Given the description of an element on the screen output the (x, y) to click on. 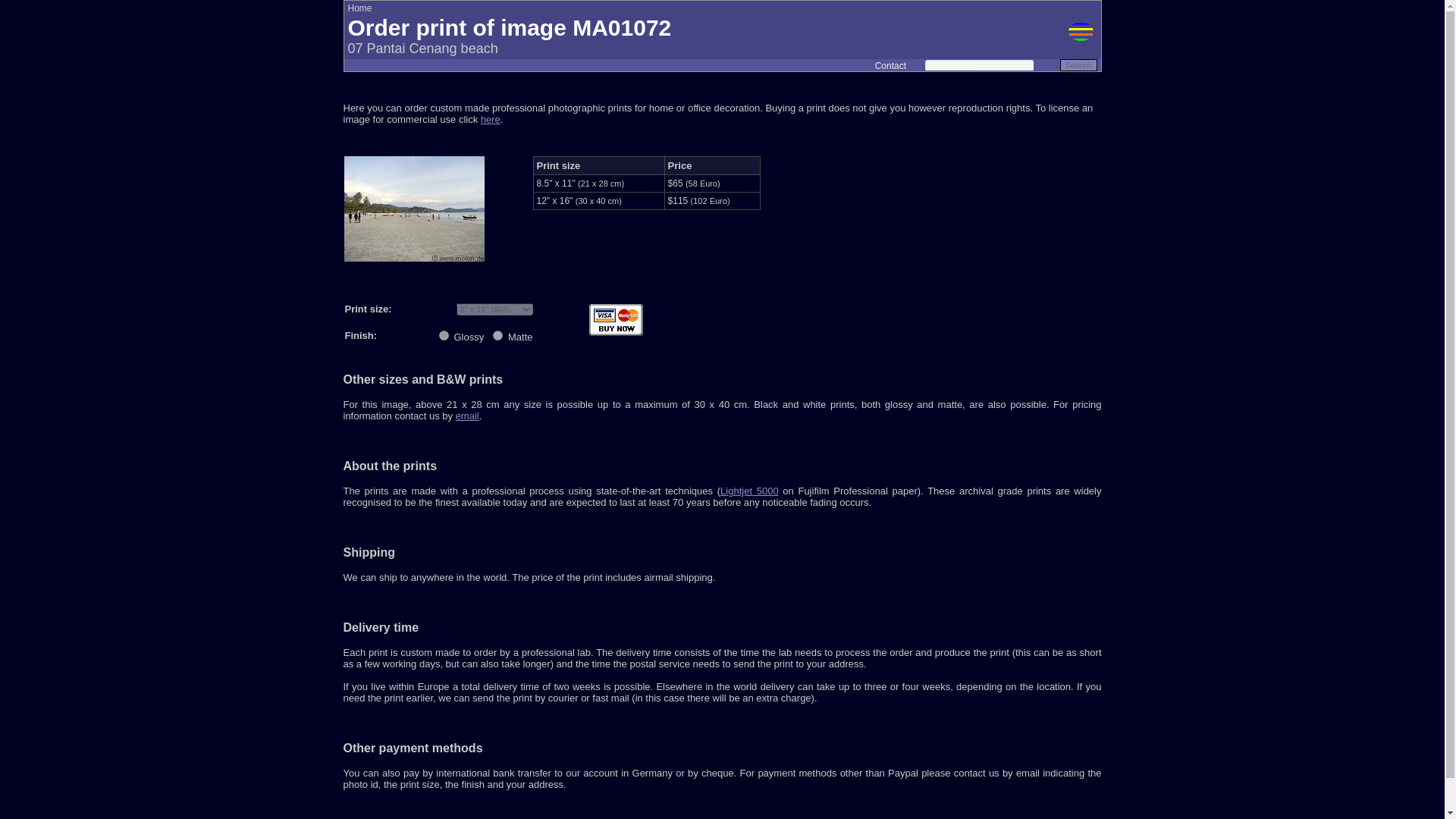
Search (1078, 64)
Glossy (443, 335)
 Matte (497, 335)
here (490, 119)
Contact (890, 65)
Lightjet 5000 (749, 490)
Search (1078, 64)
Search (1078, 64)
Home (359, 8)
email (467, 415)
